Given the description of an element on the screen output the (x, y) to click on. 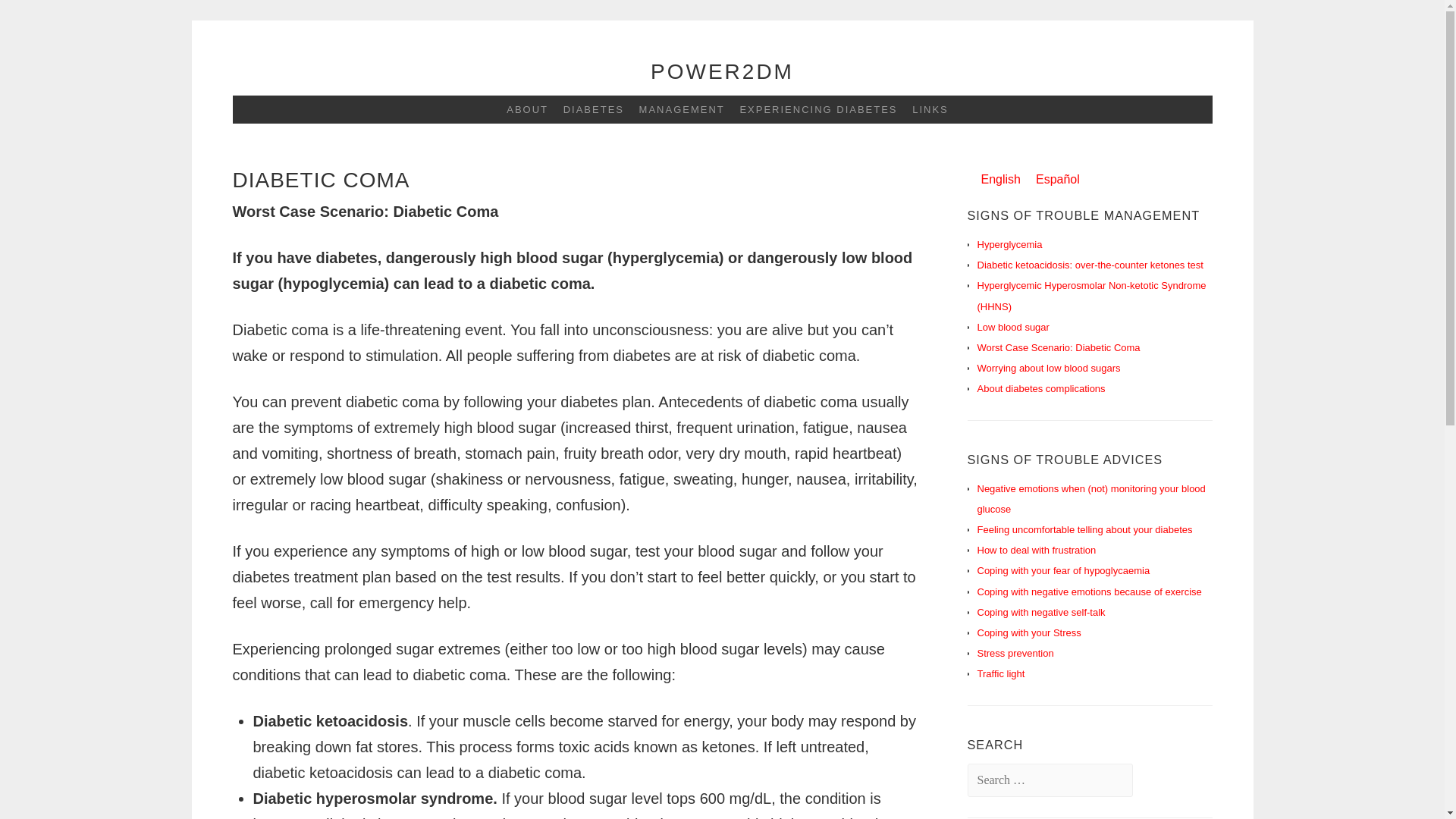
DIABETES (588, 109)
POWER2DM (721, 71)
EXPERIENCING DIABETES (812, 109)
ABOUT (522, 109)
MANAGEMENT (676, 109)
